Given the description of an element on the screen output the (x, y) to click on. 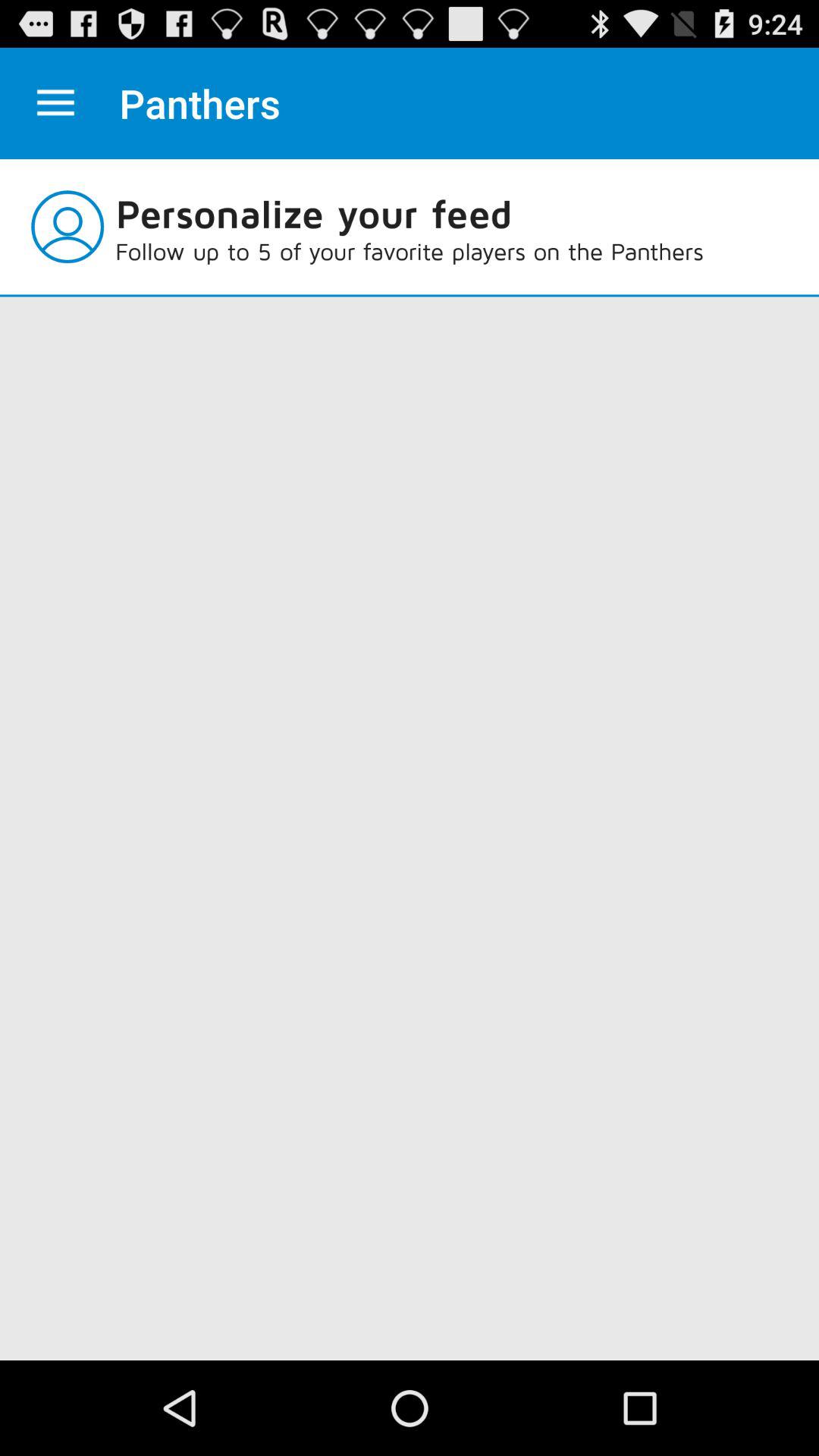
select your option (55, 103)
